Given the description of an element on the screen output the (x, y) to click on. 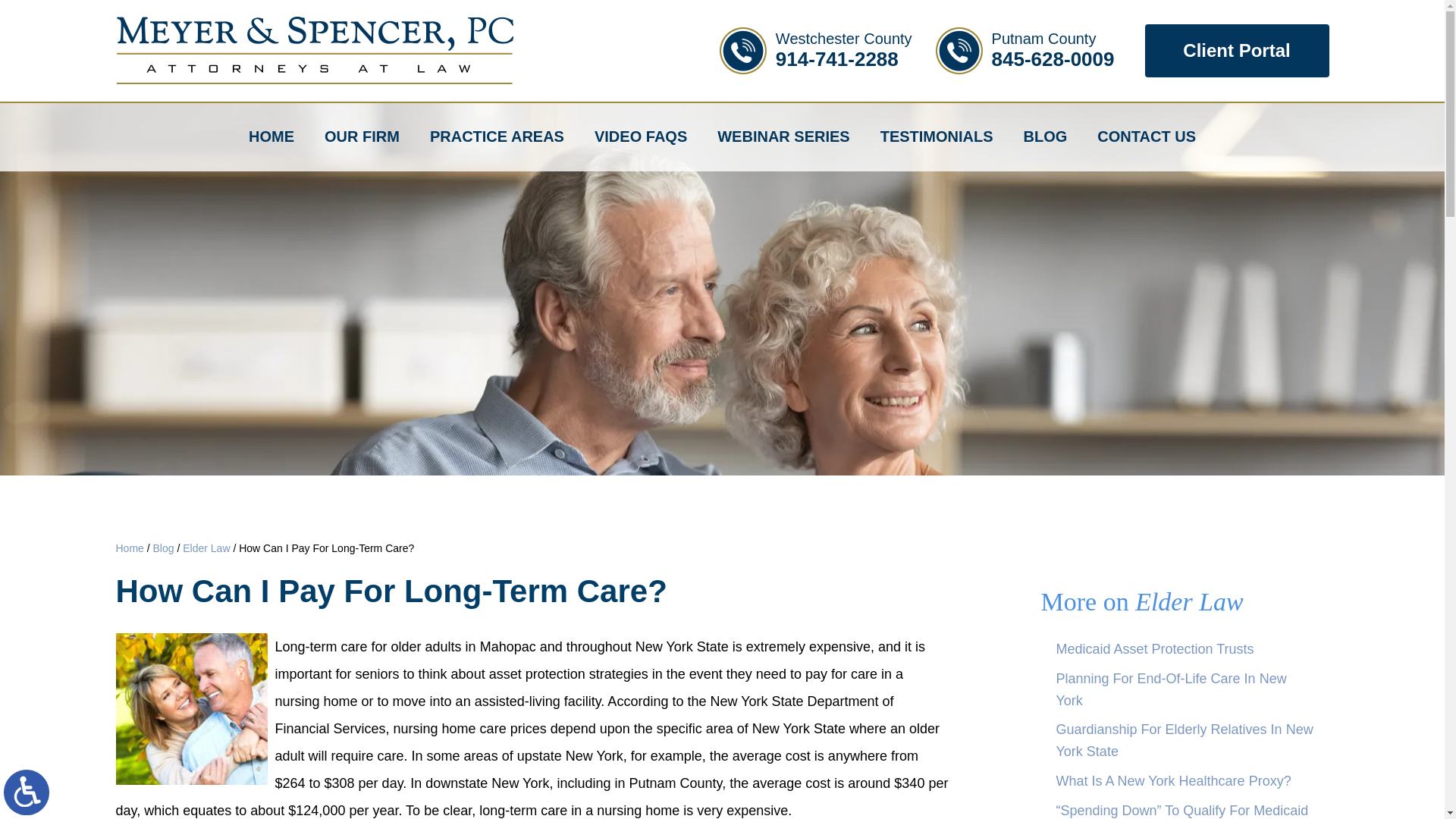
VIDEO FAQS (815, 50)
WEBINAR SERIES (640, 135)
Switch to ADA Accessible Theme (782, 135)
Client Portal (26, 791)
PRACTICE AREAS (1024, 50)
OUR FIRM (1236, 50)
HOME (496, 135)
ElderCouple (361, 135)
